Given the description of an element on the screen output the (x, y) to click on. 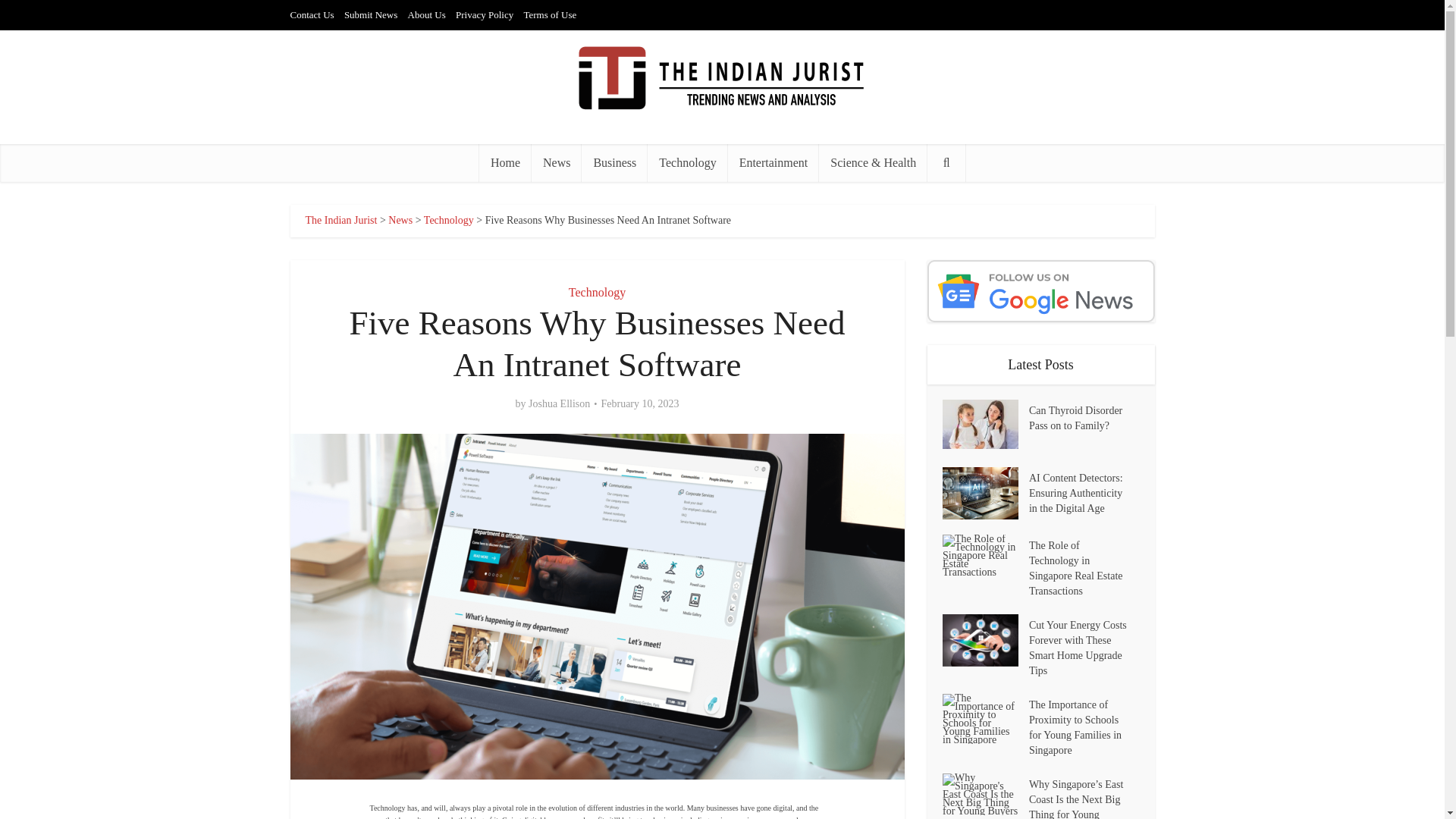
Can Thyroid Disorder Pass on to Family? (1084, 416)
News (400, 220)
Privacy Policy (484, 14)
Technology (686, 162)
Entertainment (773, 162)
Terms of Use (549, 14)
Home (505, 162)
About Us (426, 14)
Submit News (370, 14)
News (555, 162)
